Given the description of an element on the screen output the (x, y) to click on. 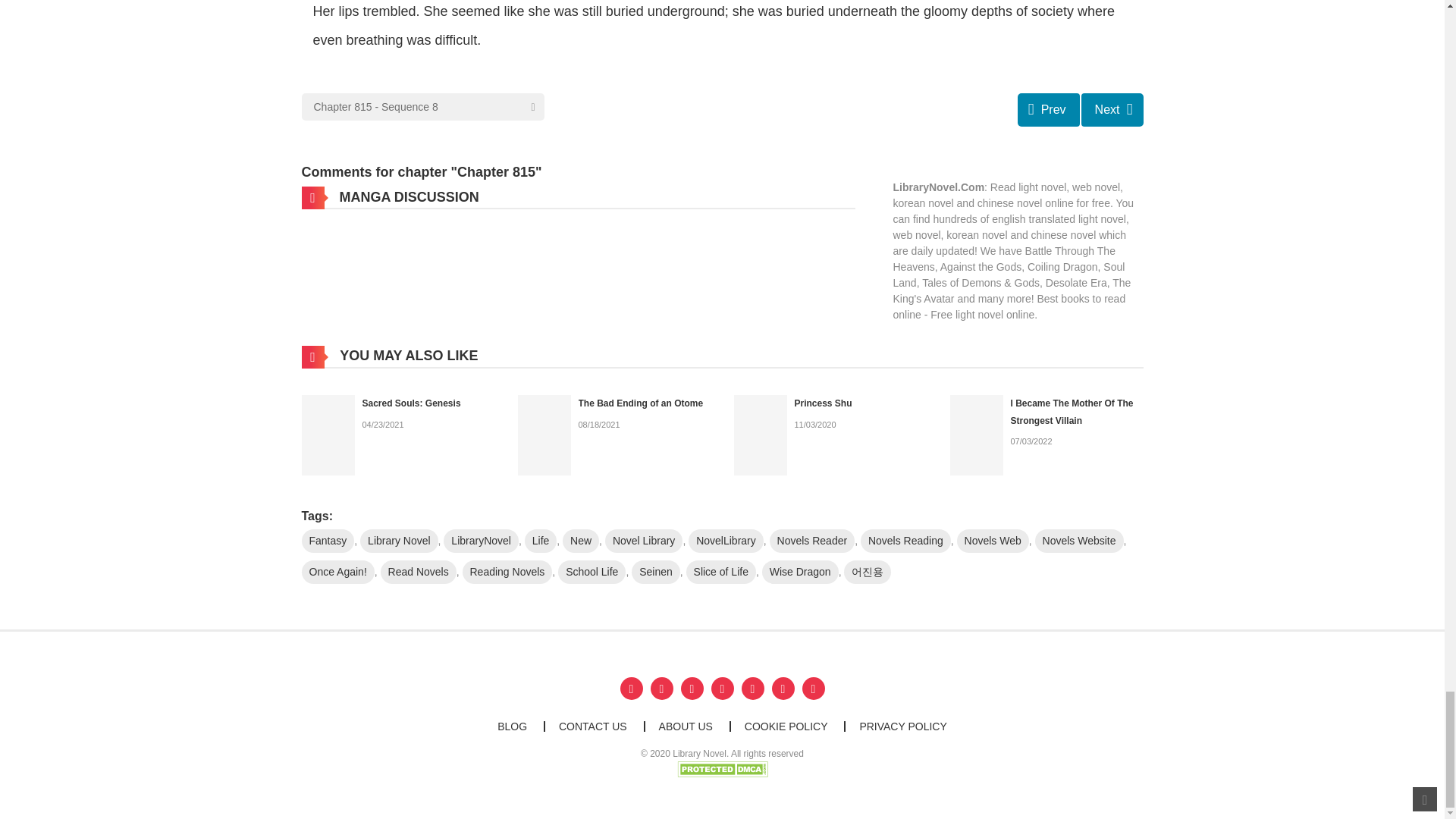
The Bad Ending of an Otome (640, 403)
Sacred Souls: Genesis (328, 434)
Sacred Souls: Genesis (411, 403)
The Bad Ending of an Otome (543, 434)
Princess Shu (822, 403)
Princess Shu (760, 434)
Chapter 816 (1111, 109)
Chapter 814 (1048, 109)
I Became The Mother Of The Strongest Villain (976, 434)
